Given the description of an element on the screen output the (x, y) to click on. 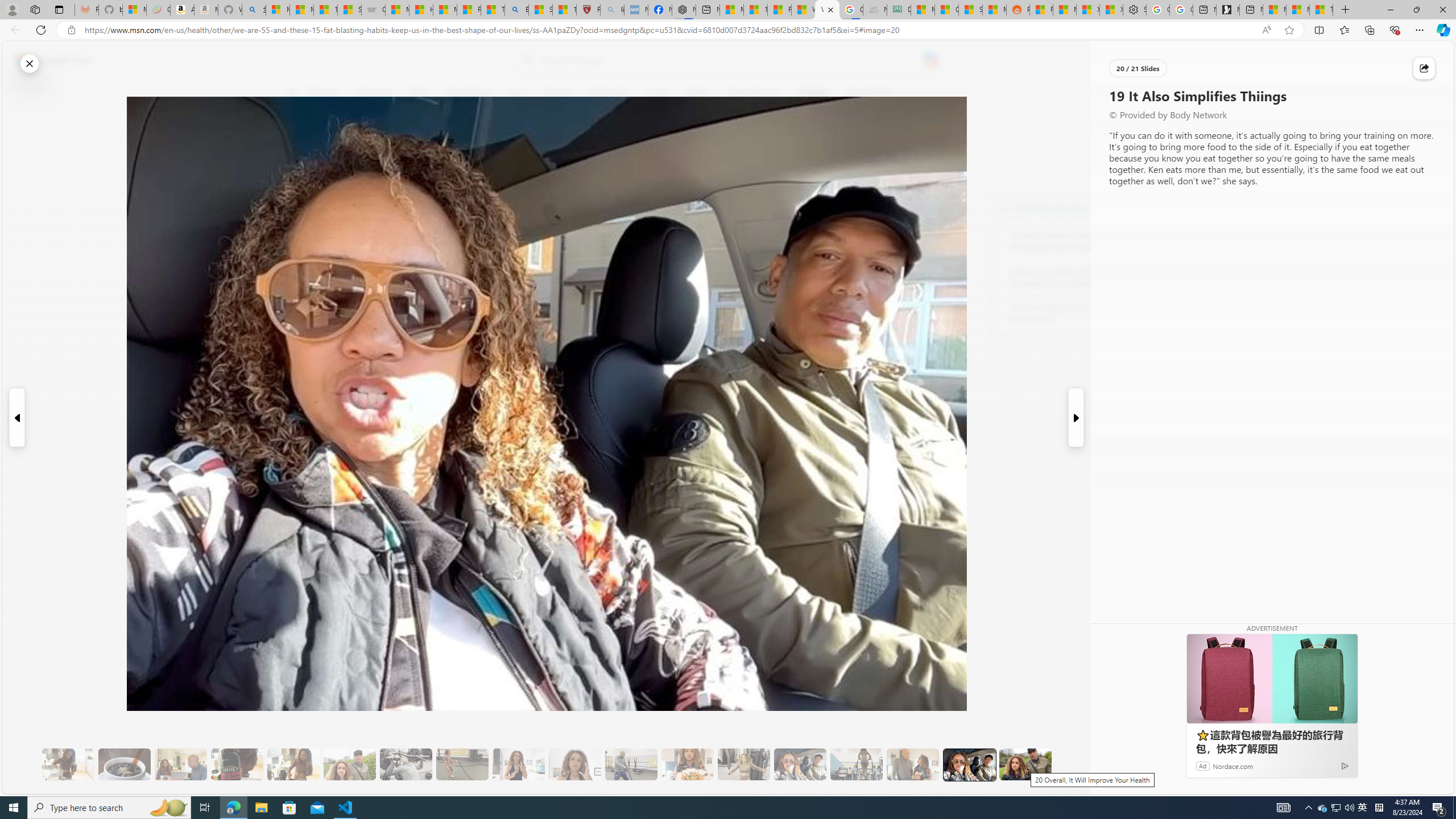
Microsoft-Report a Concern to Bing (134, 9)
9 They Do Bench Exercises (406, 764)
Following (373, 92)
14 They Have Salmon and Veggies for Dinner (687, 764)
App bar (728, 29)
Robert H. Shmerling, MD - Harvard Health (588, 9)
Open settings (1427, 60)
11 They Eat More Protein for Breakfast (518, 764)
World News (468, 92)
Go to publisher's site (830, 146)
Next Slide (1076, 417)
